Given the description of an element on the screen output the (x, y) to click on. 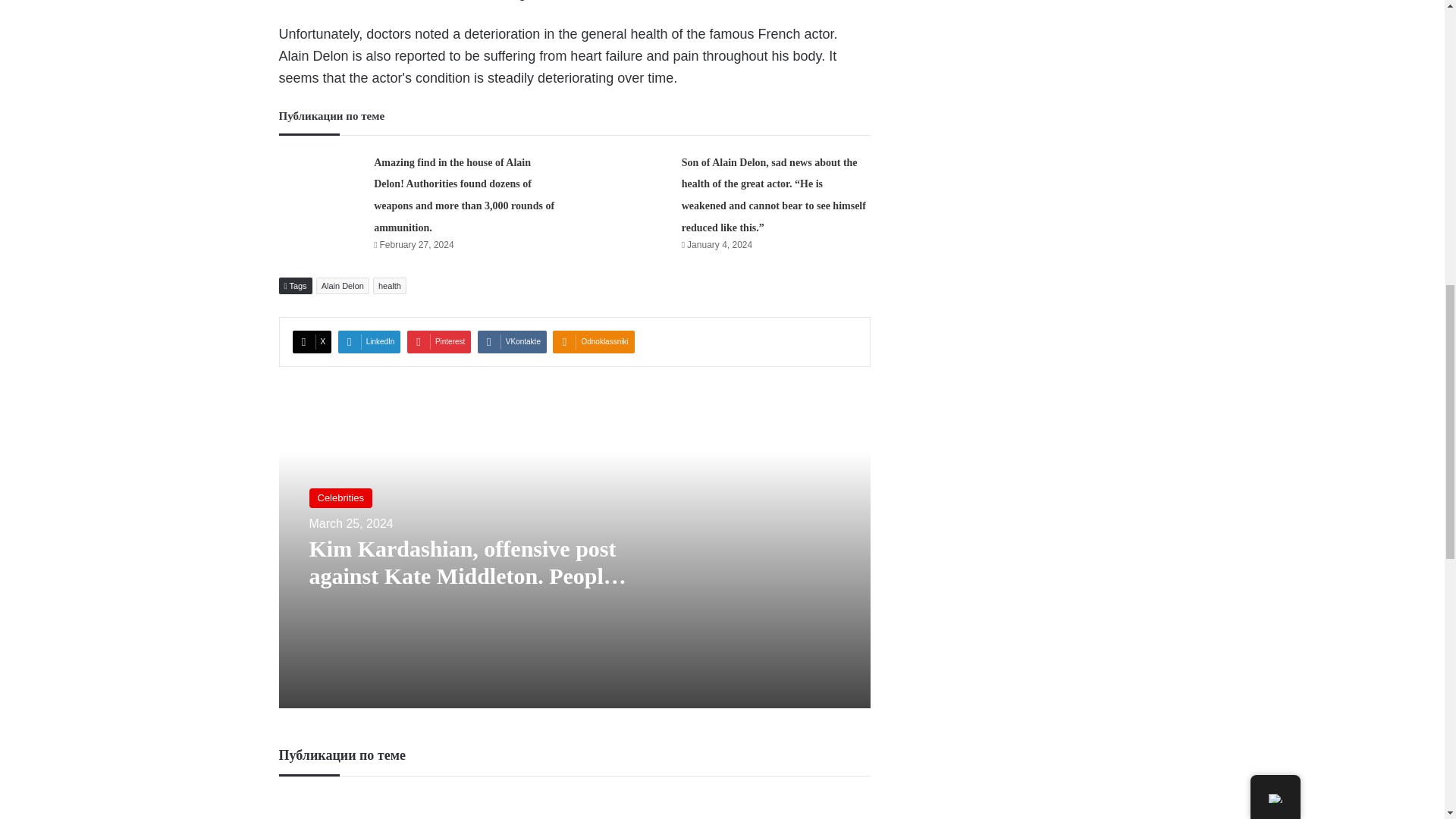
Pinterest (438, 341)
Alain Delon (342, 285)
health (389, 285)
LinkedIn (369, 341)
Odnoklassniki (593, 341)
Celebrities (340, 497)
X (311, 341)
X (311, 341)
Odnoklassniki (593, 341)
Pinterest (438, 341)
VKontakte (512, 341)
VKontakte (512, 341)
LinkedIn (369, 341)
